Given the description of an element on the screen output the (x, y) to click on. 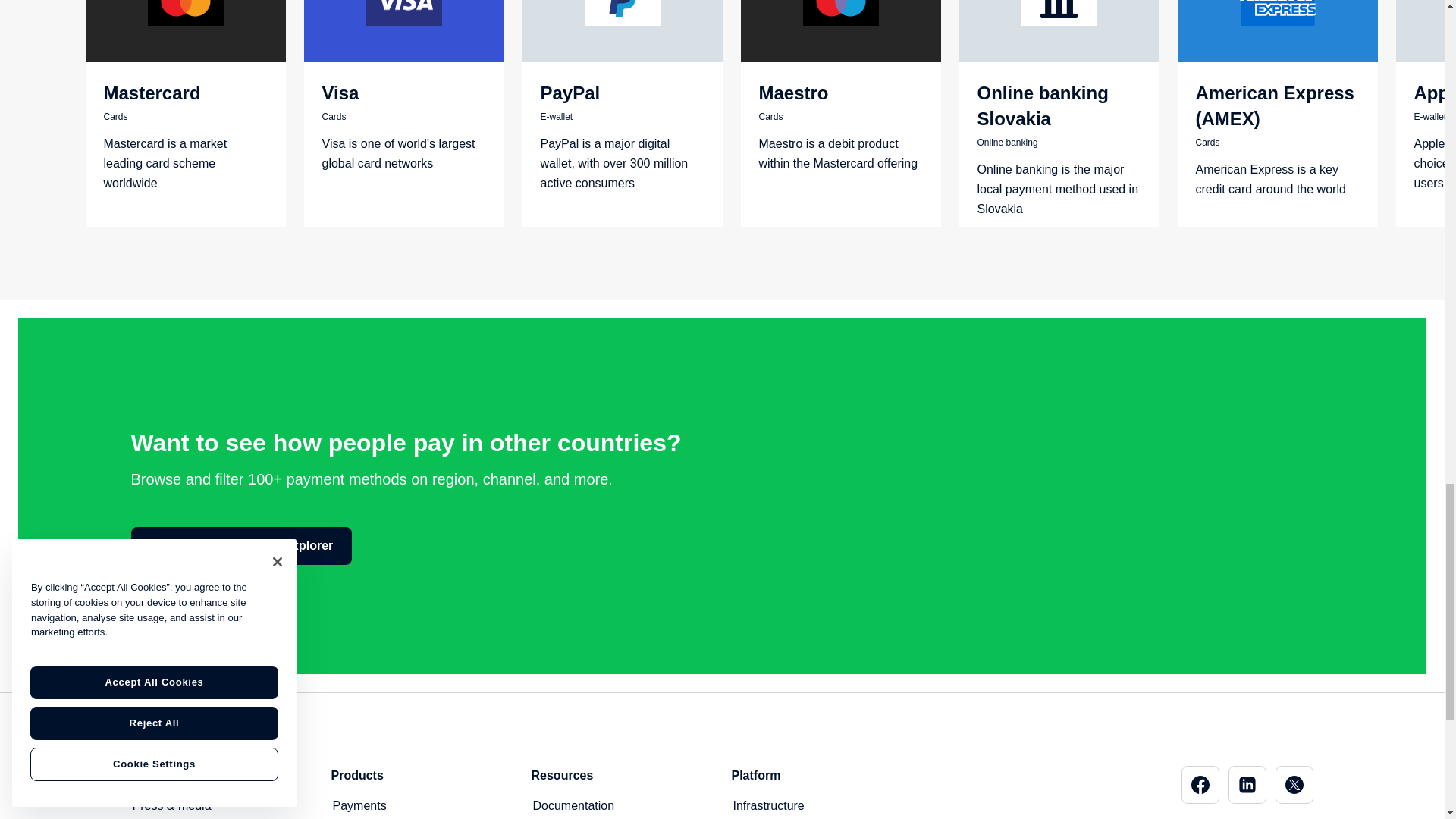
Go to payment method explorer (241, 546)
Payments (358, 805)
Infrastructure (767, 805)
Documentation (573, 805)
